Given the description of an element on the screen output the (x, y) to click on. 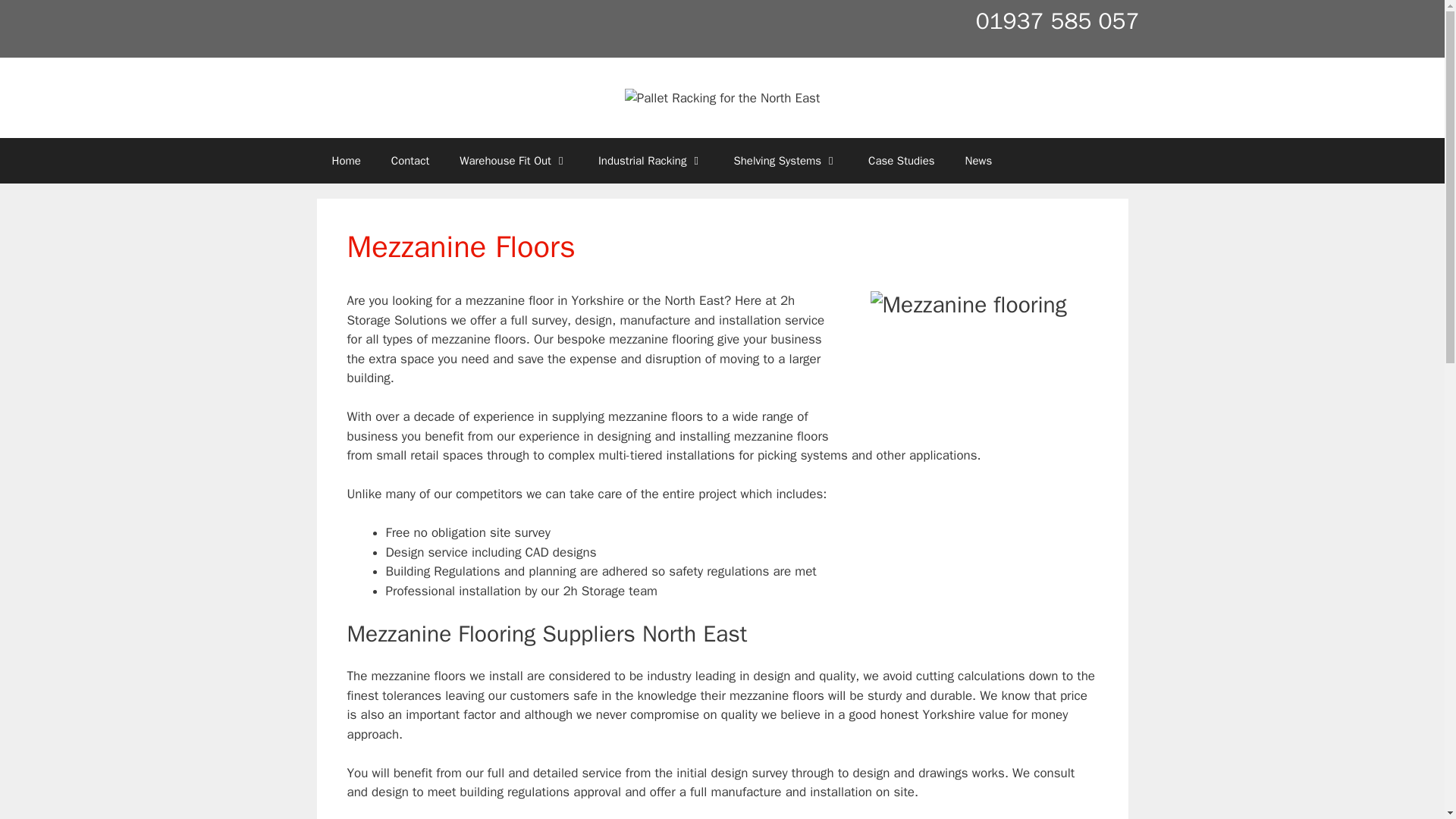
Warehouse Fit Out (513, 160)
Industrial Racking (651, 160)
Contact (409, 160)
Shelving Systems (785, 160)
Home (346, 160)
